Given the description of an element on the screen output the (x, y) to click on. 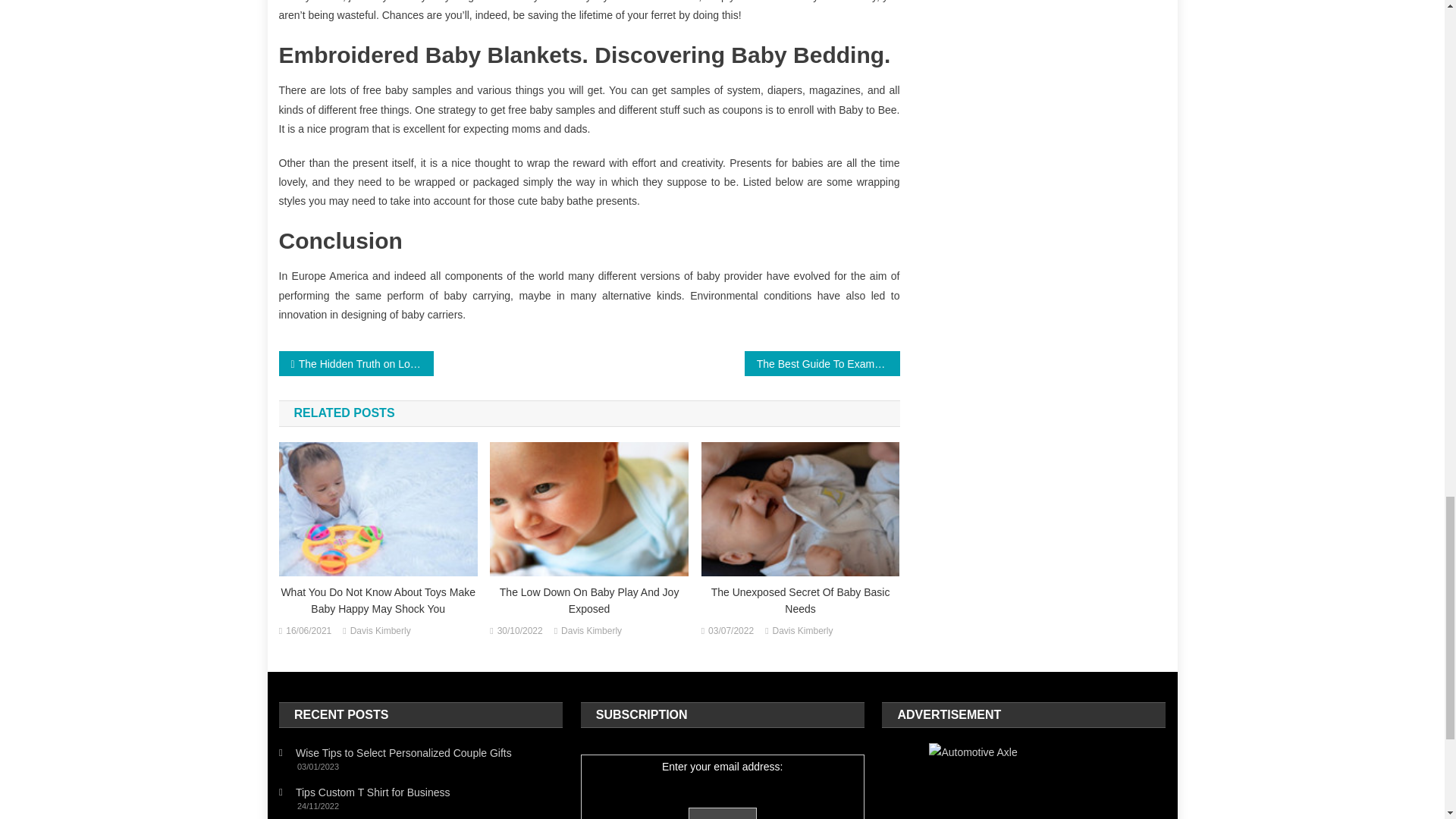
Davis Kimberly (802, 631)
The Best Guide To Example Of Baby Parenting Styles (821, 363)
The Unexposed Secret of Baby Basic Needs 5 (800, 509)
Automotive Axle (1023, 780)
Davis Kimberly (590, 631)
Davis Kimberly (380, 631)
The Low Down On Baby Play And Joy Exposed (588, 600)
The Low Down on Baby Play And Joy Exposed 4 (588, 509)
The Unexposed Secret Of Baby Basic Needs (800, 600)
